Given the description of an element on the screen output the (x, y) to click on. 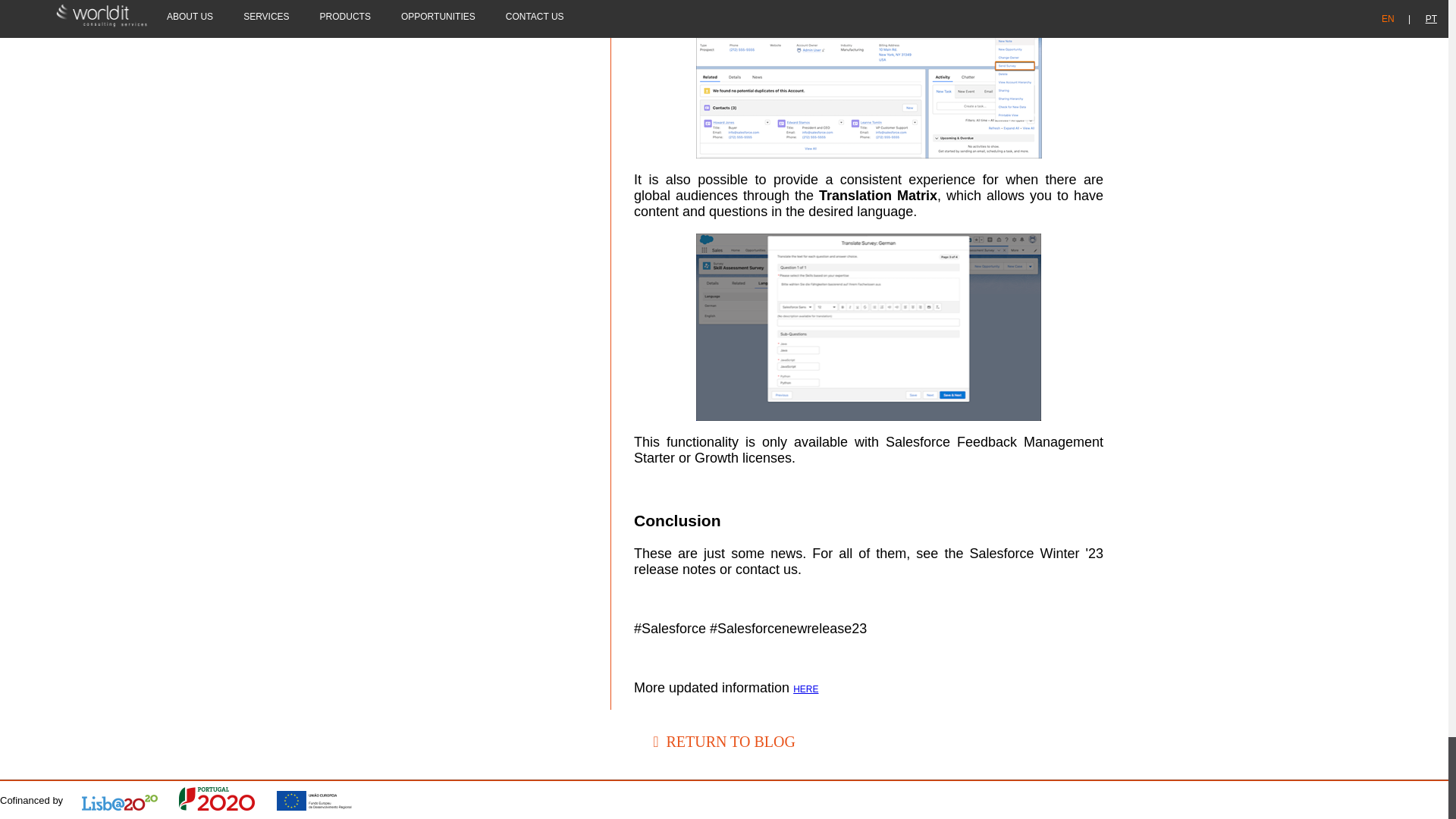
HERE (805, 688)
